Given the description of an element on the screen output the (x, y) to click on. 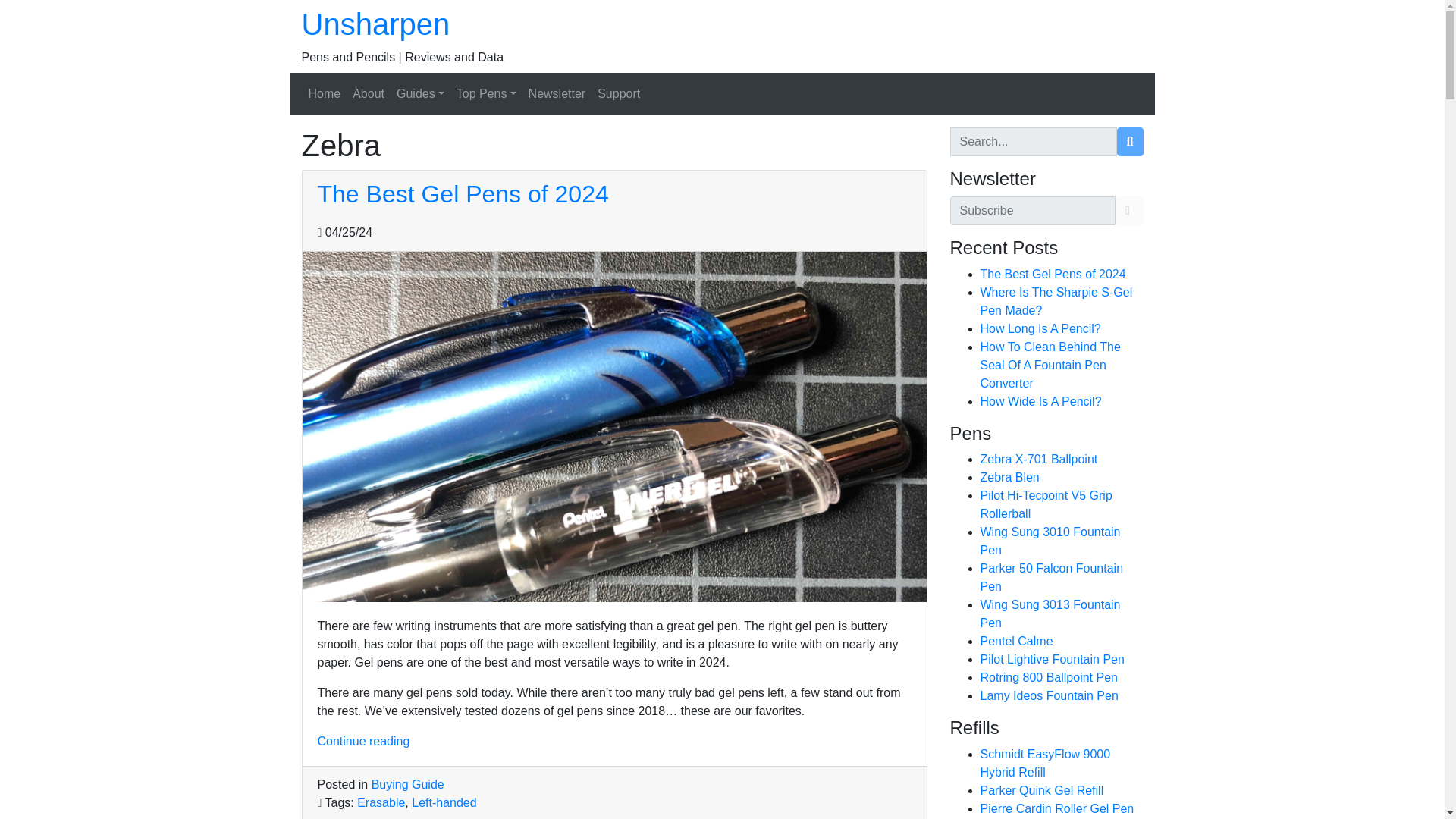
Guides (419, 93)
Support (618, 93)
Search for: (1032, 141)
submit (1129, 141)
Buying Guide (407, 784)
The Best Gel Pens of 2024 (462, 194)
Newsletter (557, 93)
Left-handed (444, 802)
Unsharpen (375, 23)
Home (323, 93)
